Given the description of an element on the screen output the (x, y) to click on. 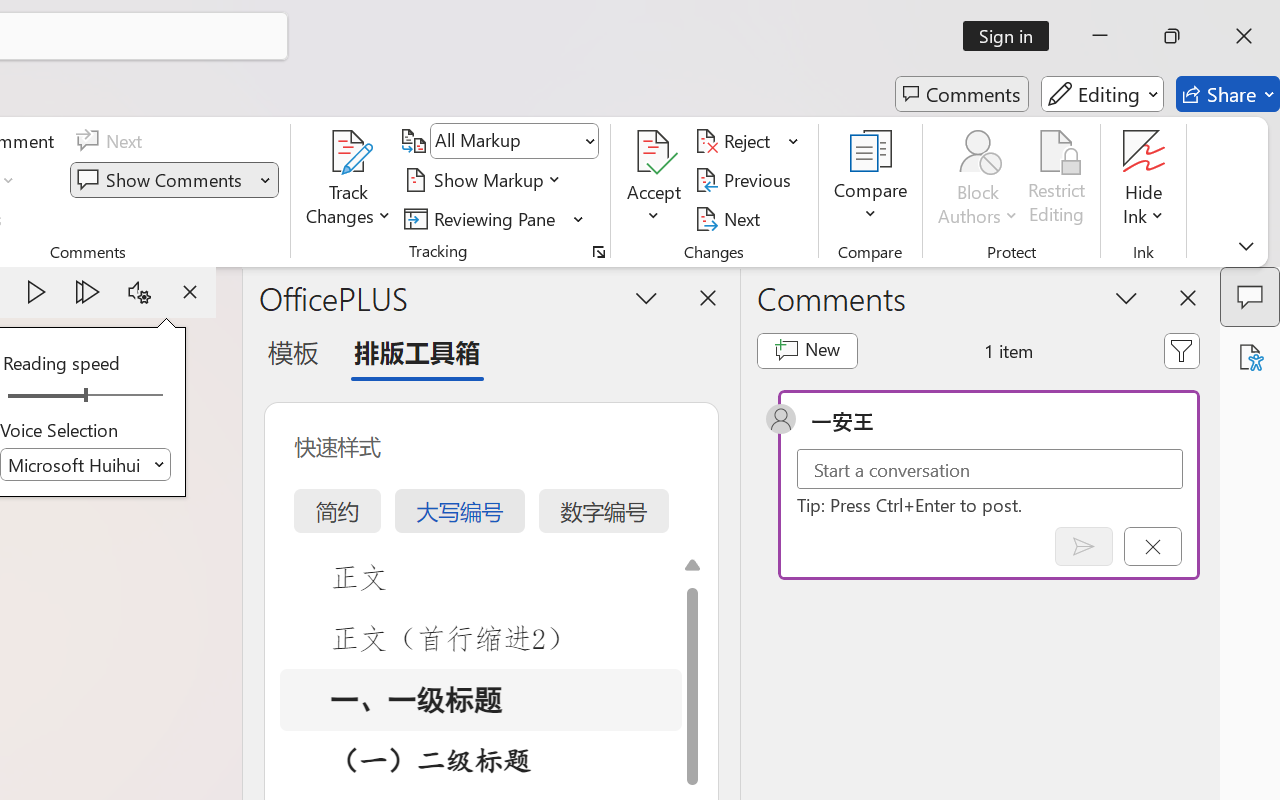
Reading speed (85, 396)
Play (36, 292)
Post comment (Ctrl + Enter) (1083, 546)
Page right (129, 395)
Reject and Move to Next (735, 141)
Reject (747, 141)
Reviewing Pane (483, 218)
Accept (653, 179)
Hide Ink (1144, 151)
Show Markup (485, 179)
Start a conversation (990, 468)
Editing (1101, 94)
